Given the description of an element on the screen output the (x, y) to click on. 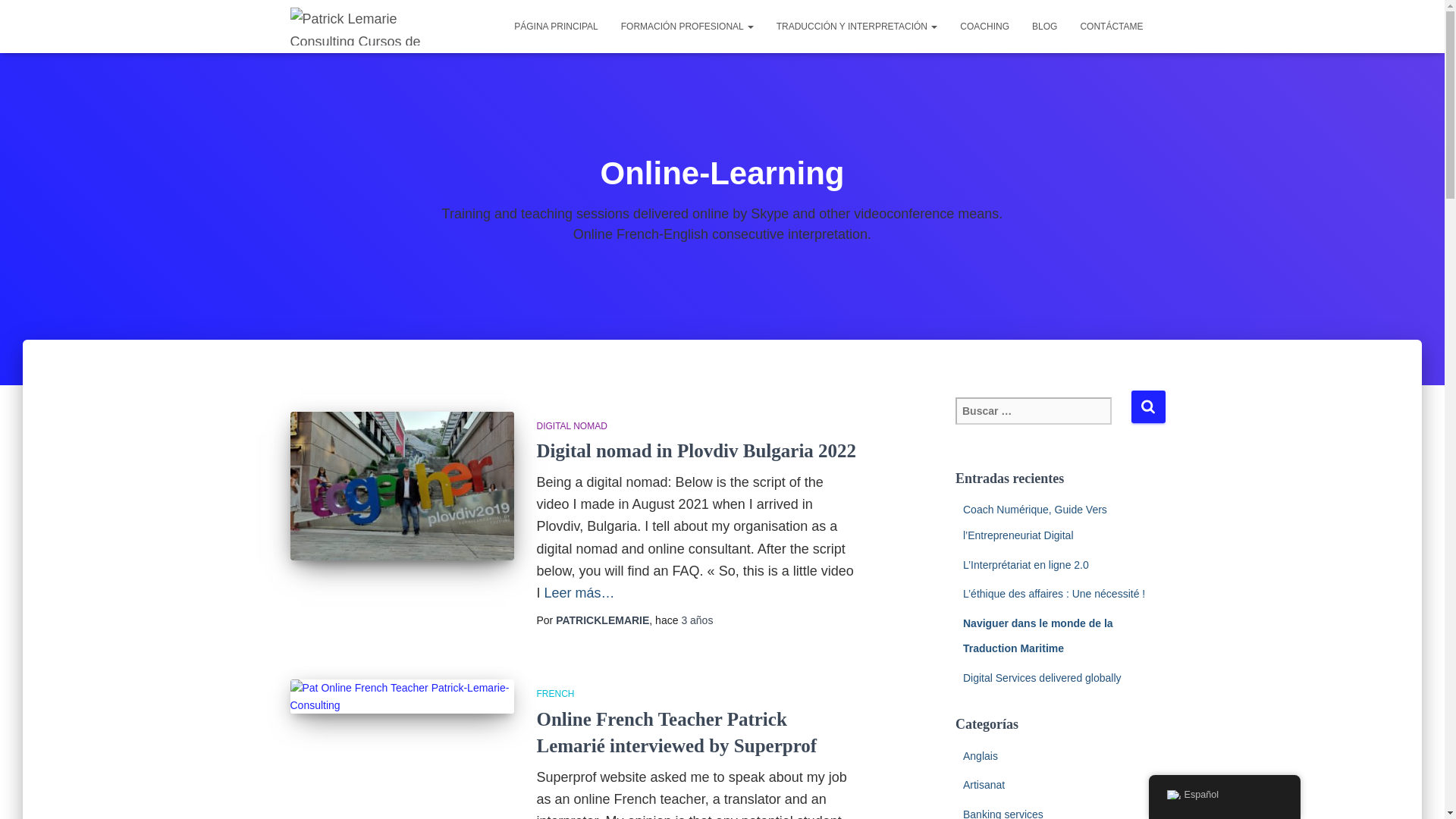
PATRICKLEMARIE (602, 620)
Buscar (1148, 406)
FRENCH (556, 693)
Digital nomad in Plovdiv Bulgaria 2022 (697, 450)
BLOG (1044, 26)
DIGITAL NOMAD (572, 425)
Buscar (1148, 406)
COACHING (984, 26)
